Given the description of an element on the screen output the (x, y) to click on. 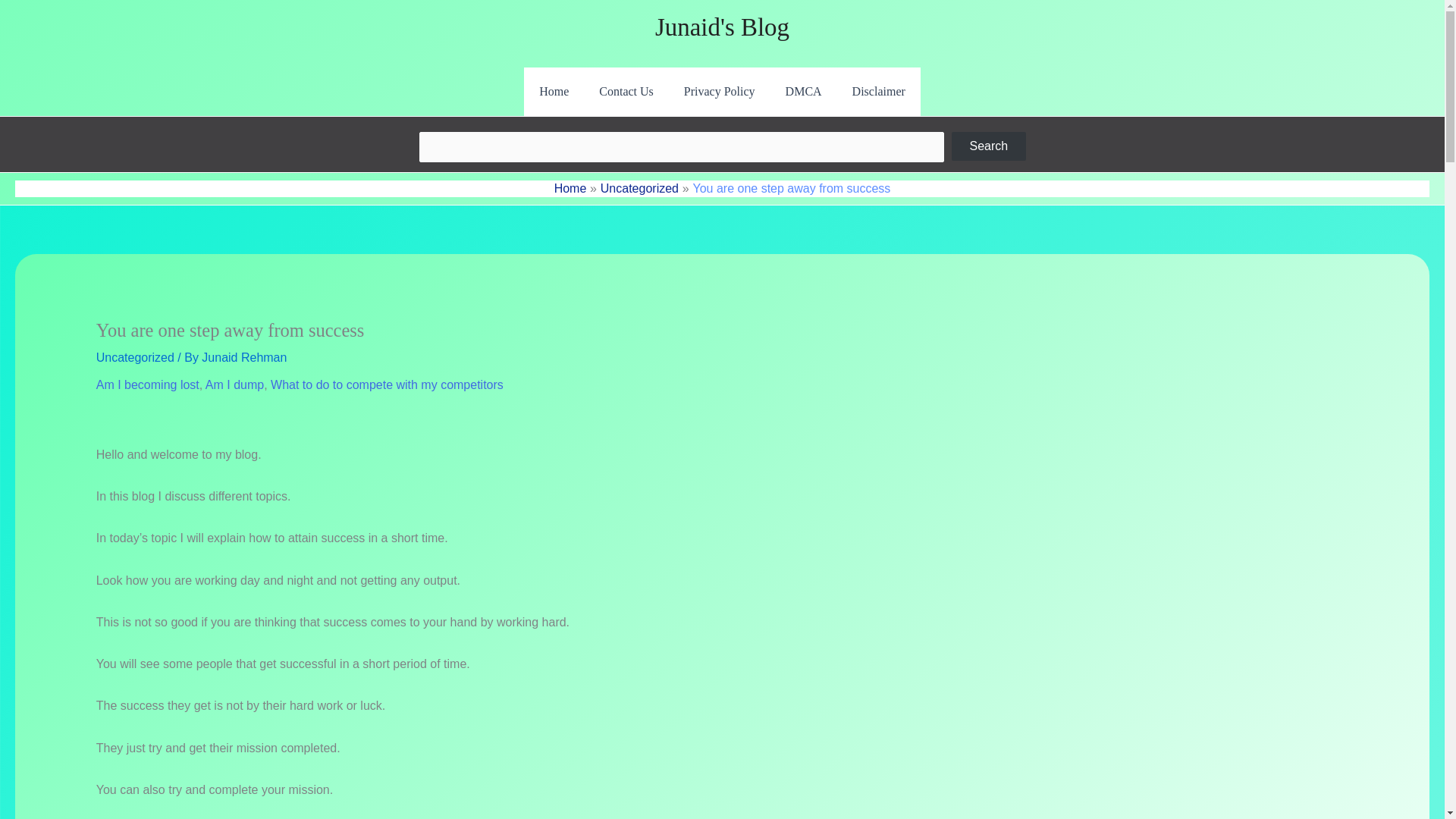
DMCA (803, 91)
Uncategorized (638, 187)
Disclaimer (878, 91)
Home (570, 187)
Junaid Rehman (244, 357)
Privacy Policy (719, 91)
Junaid's Blog (722, 26)
Am I becoming lost (147, 384)
What to do to compete with my competitors (386, 384)
Home (553, 91)
Uncategorized (135, 357)
View all posts by Junaid Rehman (244, 357)
Search (988, 145)
Am I dump (234, 384)
Contact Us (625, 91)
